Given the description of an element on the screen output the (x, y) to click on. 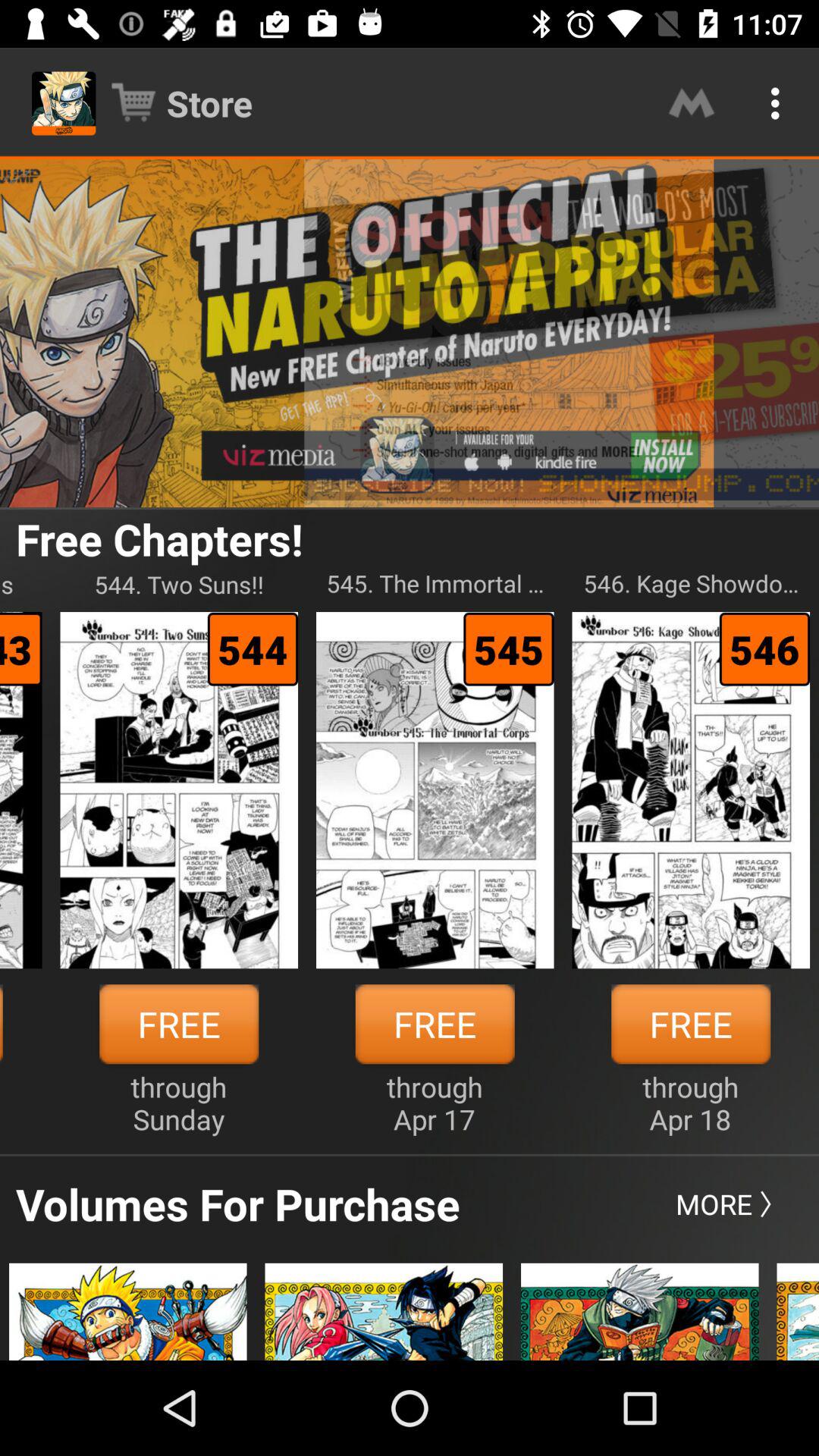
open 546. kage showdown!! icon (691, 584)
